Given the description of an element on the screen output the (x, y) to click on. 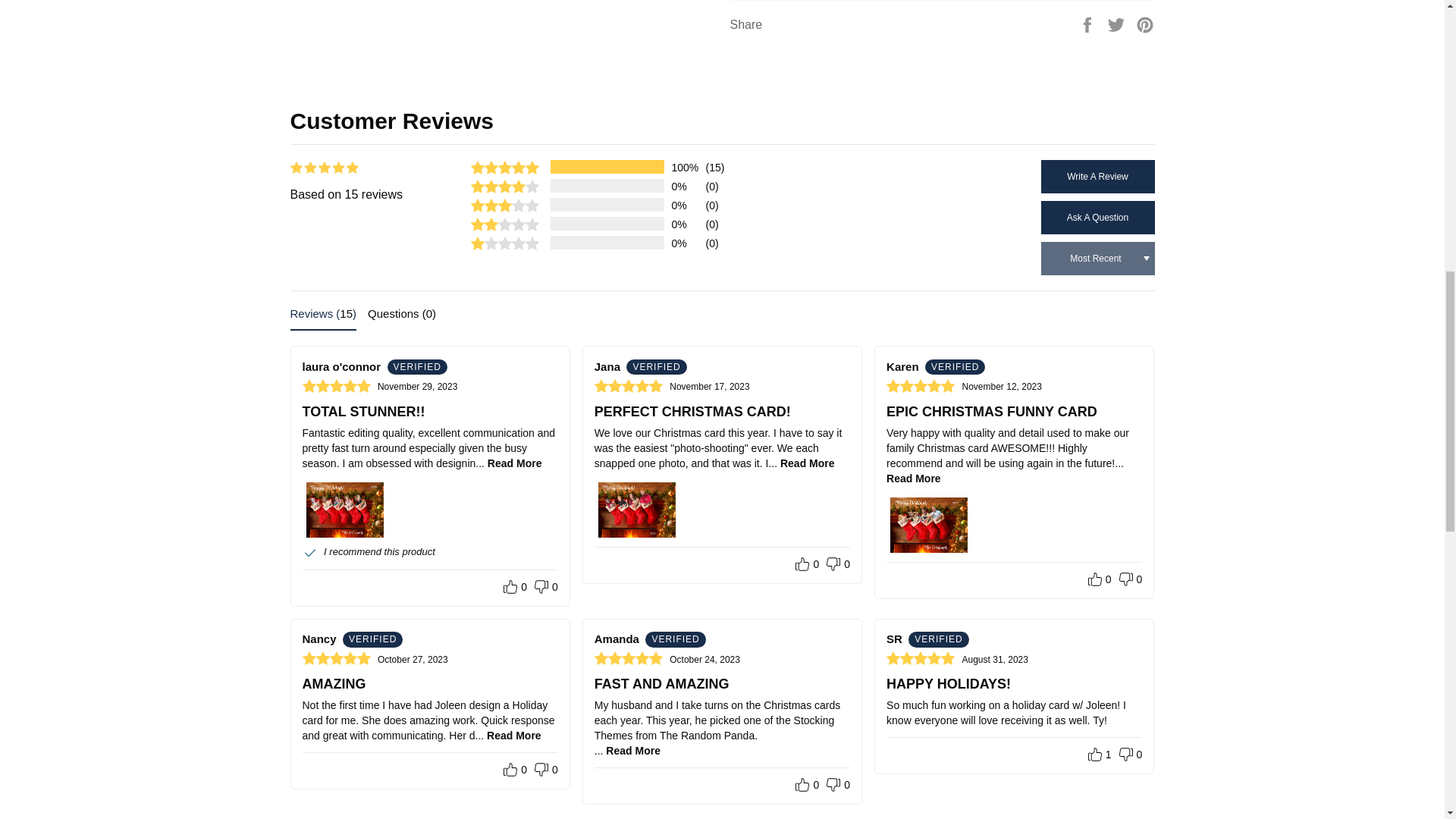
Share on Facebook (1088, 23)
Tweet on Twitter (1117, 23)
Pin on Pinterest (1144, 23)
